Given the description of an element on the screen output the (x, y) to click on. 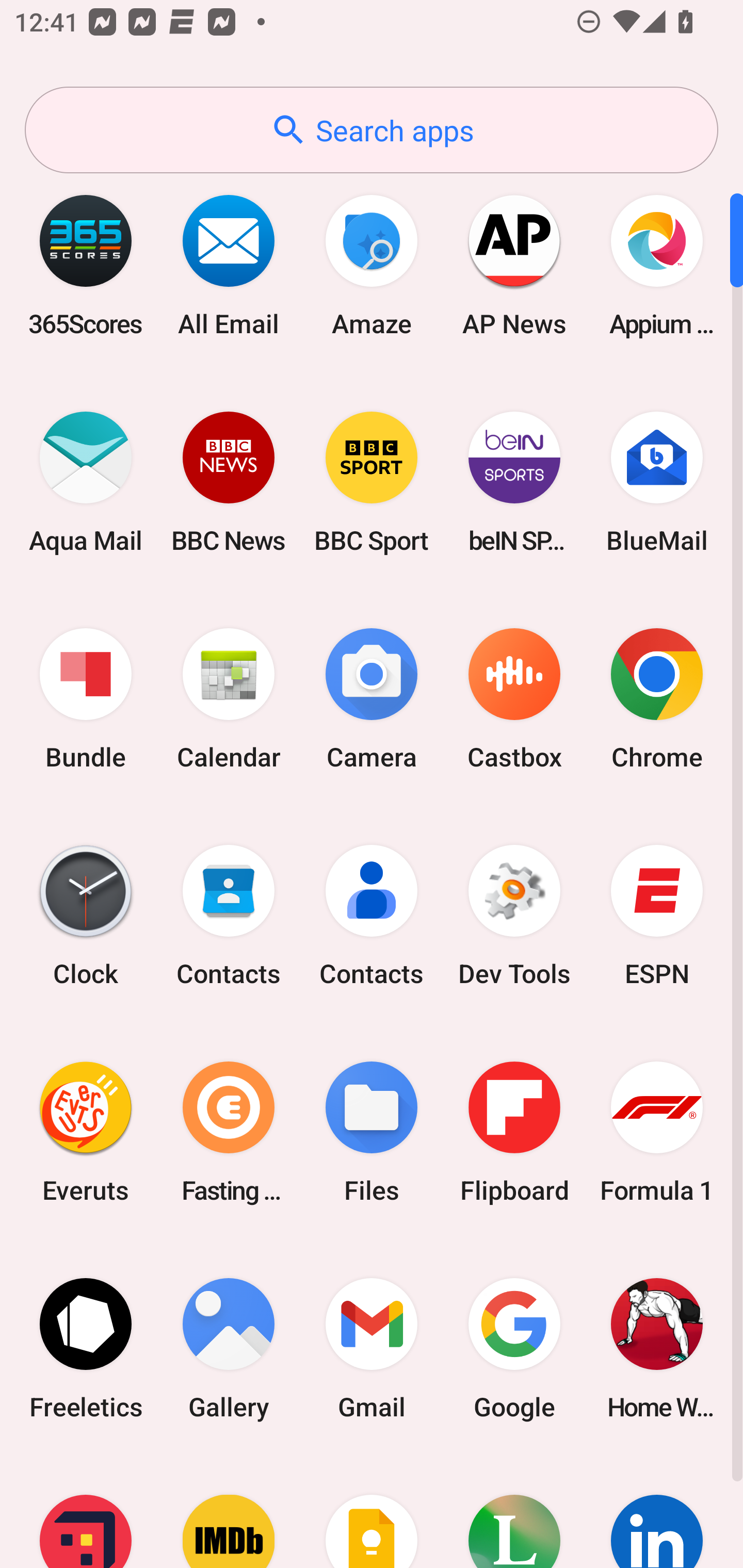
  Search apps (371, 130)
365Scores (85, 264)
All Email (228, 264)
Amaze (371, 264)
AP News (514, 264)
Appium Settings (656, 264)
Aqua Mail (85, 482)
BBC News (228, 482)
BBC Sport (371, 482)
beIN SPORTS (514, 482)
BlueMail (656, 482)
Bundle (85, 699)
Calendar (228, 699)
Camera (371, 699)
Castbox (514, 699)
Chrome (656, 699)
Clock (85, 915)
Contacts (228, 915)
Contacts (371, 915)
Dev Tools (514, 915)
ESPN (656, 915)
Everuts (85, 1131)
Fasting Coach (228, 1131)
Files (371, 1131)
Flipboard (514, 1131)
Formula 1 (656, 1131)
Freeletics (85, 1348)
Gallery (228, 1348)
Gmail (371, 1348)
Google (514, 1348)
Home Workout (656, 1348)
Hotels.com (85, 1512)
IMDb (228, 1512)
Keep Notes (371, 1512)
Lifesum (514, 1512)
LinkedIn (656, 1512)
